Given the description of an element on the screen output the (x, y) to click on. 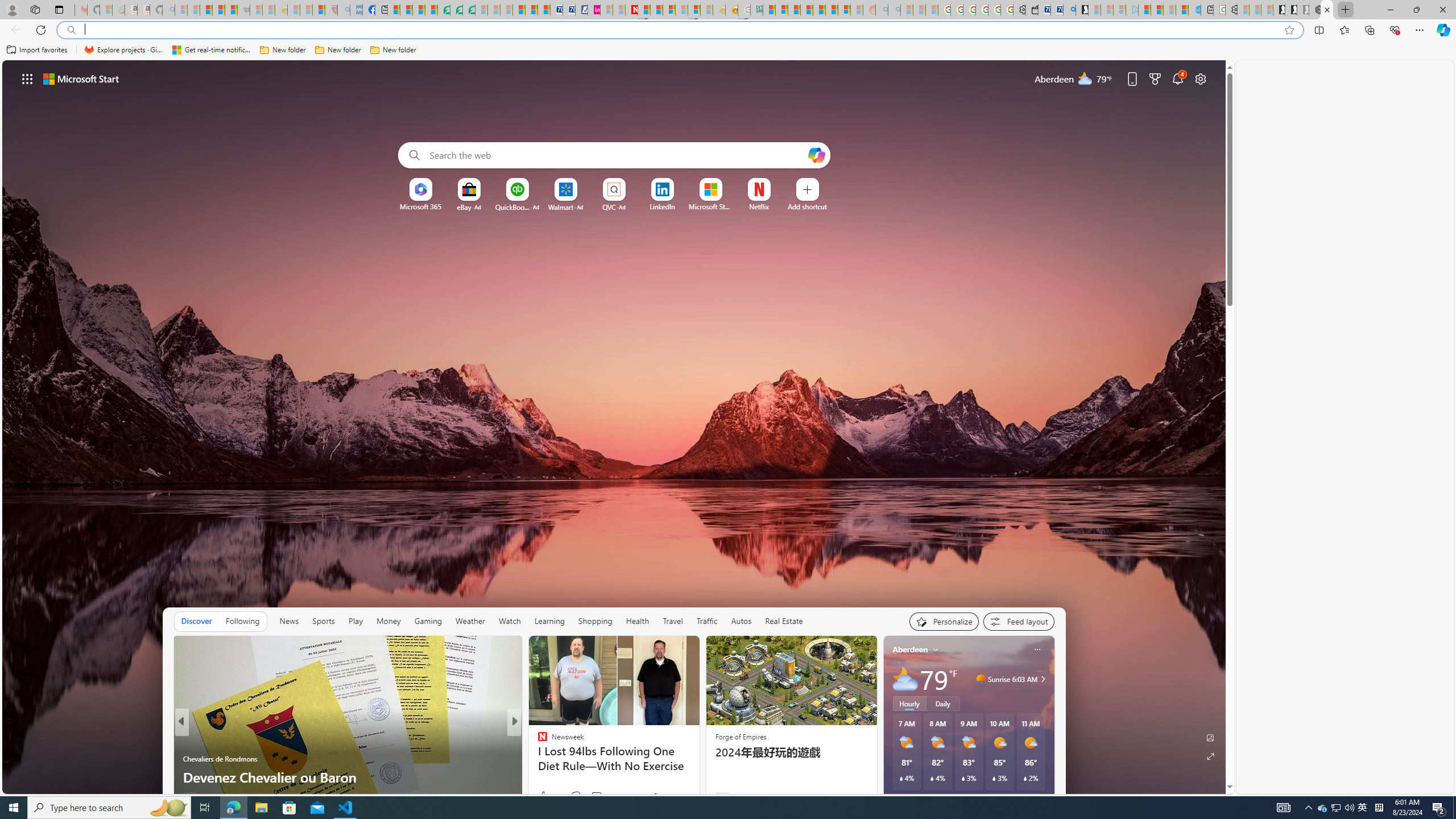
56 Like (543, 796)
MSNBC - MSN (769, 9)
Microsoft rewards (1155, 78)
Address and search bar (681, 29)
Weather (470, 621)
View comments 18 Comment (594, 796)
Mostly cloudy (904, 678)
27 Like (543, 796)
587 Like (545, 796)
Constative (537, 740)
Newsweek (537, 740)
Class: weather-arrow-glyph (1043, 678)
